Given the description of an element on the screen output the (x, y) to click on. 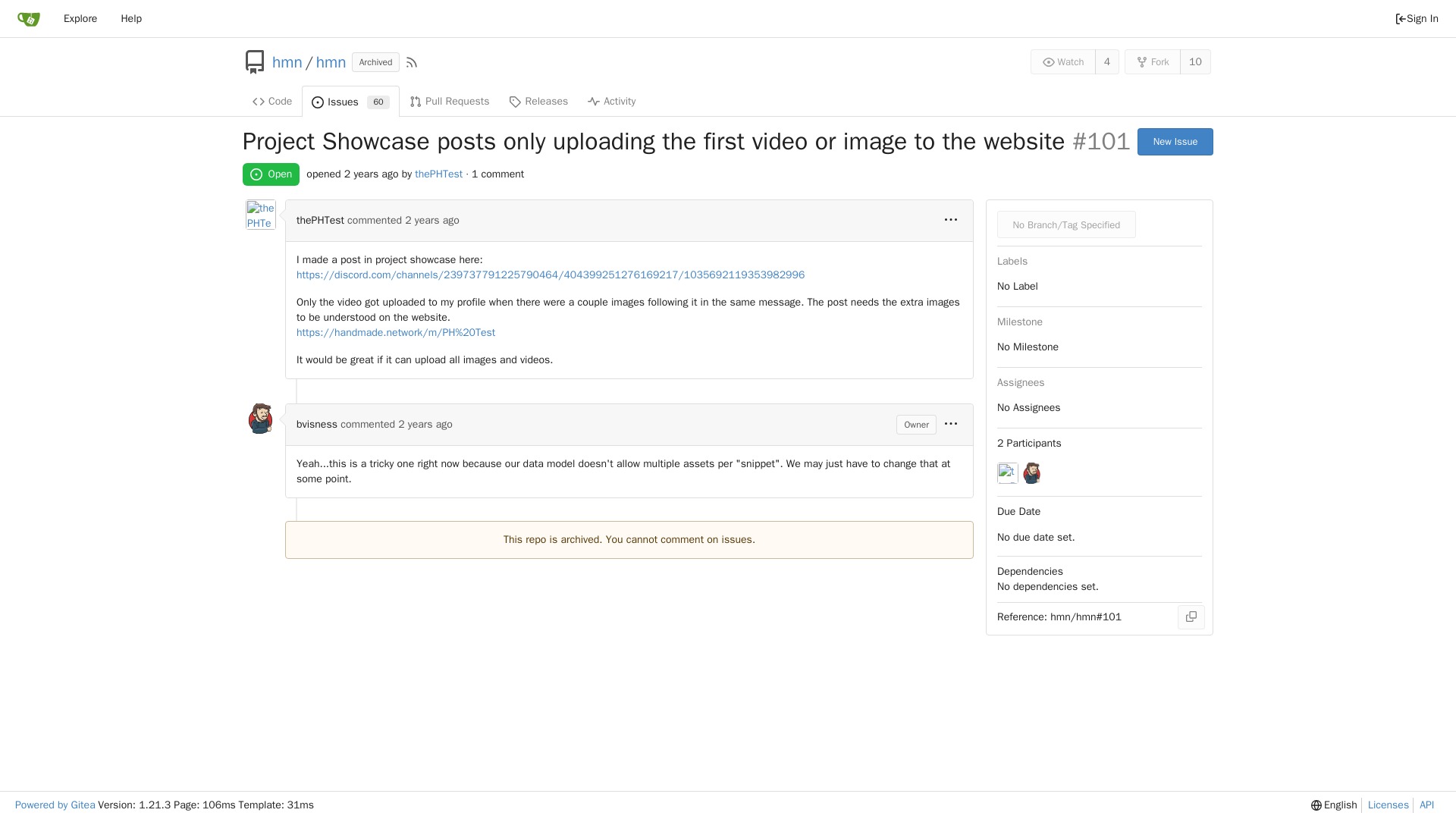
thePHTest (438, 173)
Releases (538, 101)
4 (1106, 61)
hmn (330, 61)
Watch (1063, 61)
Sign In (1416, 17)
Activity (349, 101)
Explore (611, 101)
Help (79, 17)
thePHTest (130, 17)
New Issue (261, 214)
thePHTest (1174, 140)
Code (320, 219)
bvisness (272, 101)
